Given the description of an element on the screen output the (x, y) to click on. 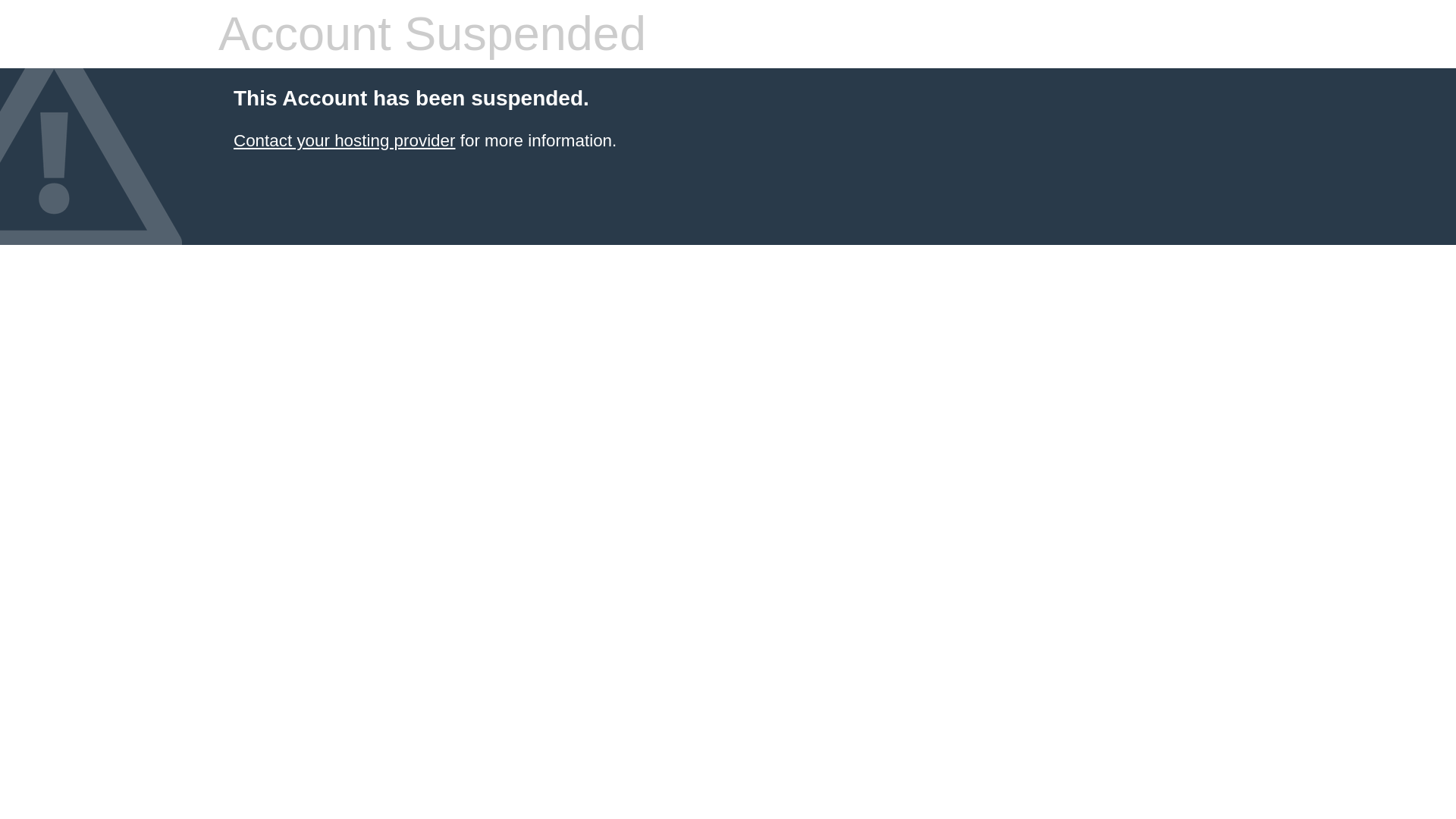
Contact your hosting provider (343, 140)
The Patriot Newspapaer (343, 140)
